Given the description of an element on the screen output the (x, y) to click on. 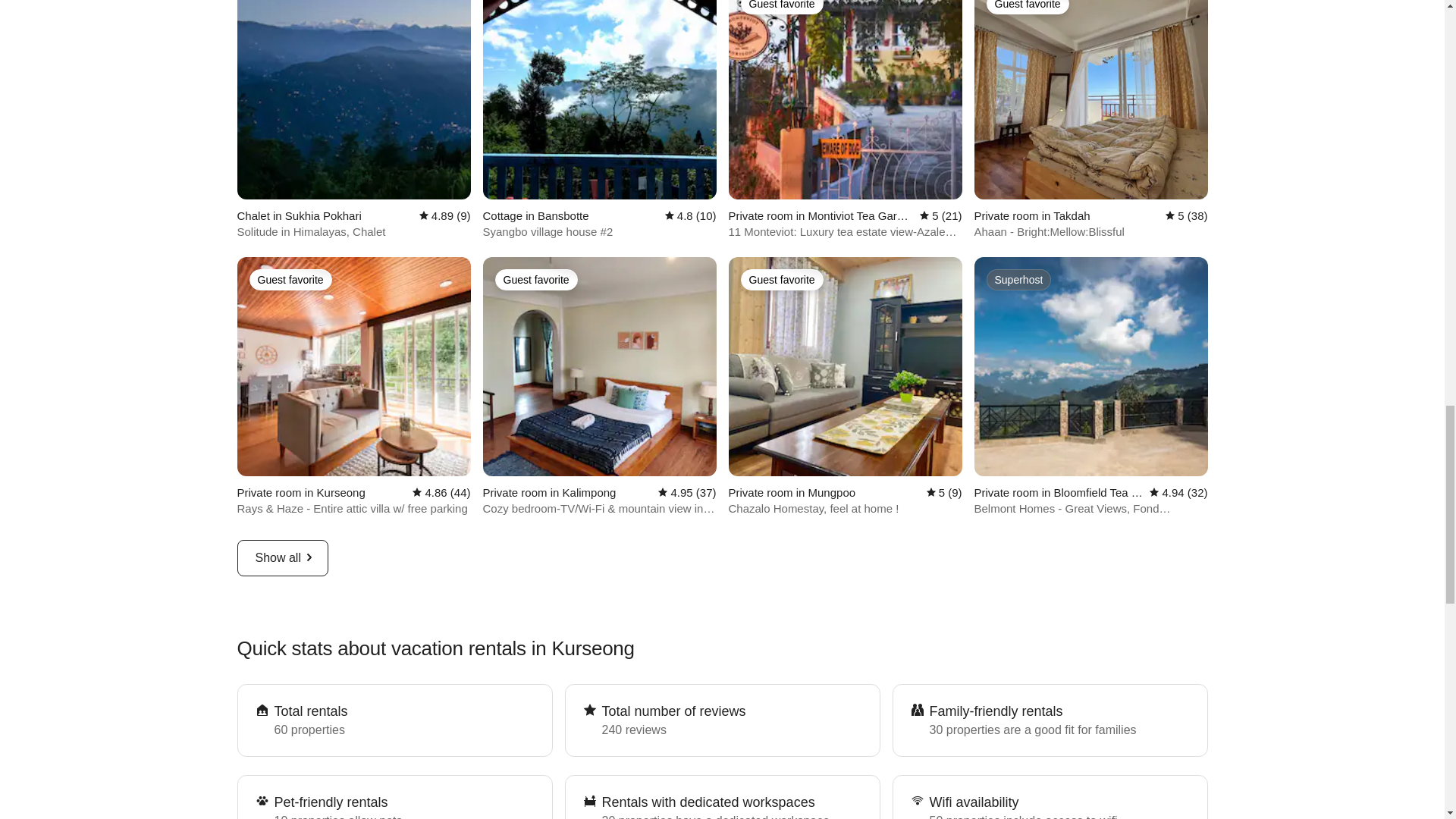
Show all (281, 557)
